Given the description of an element on the screen output the (x, y) to click on. 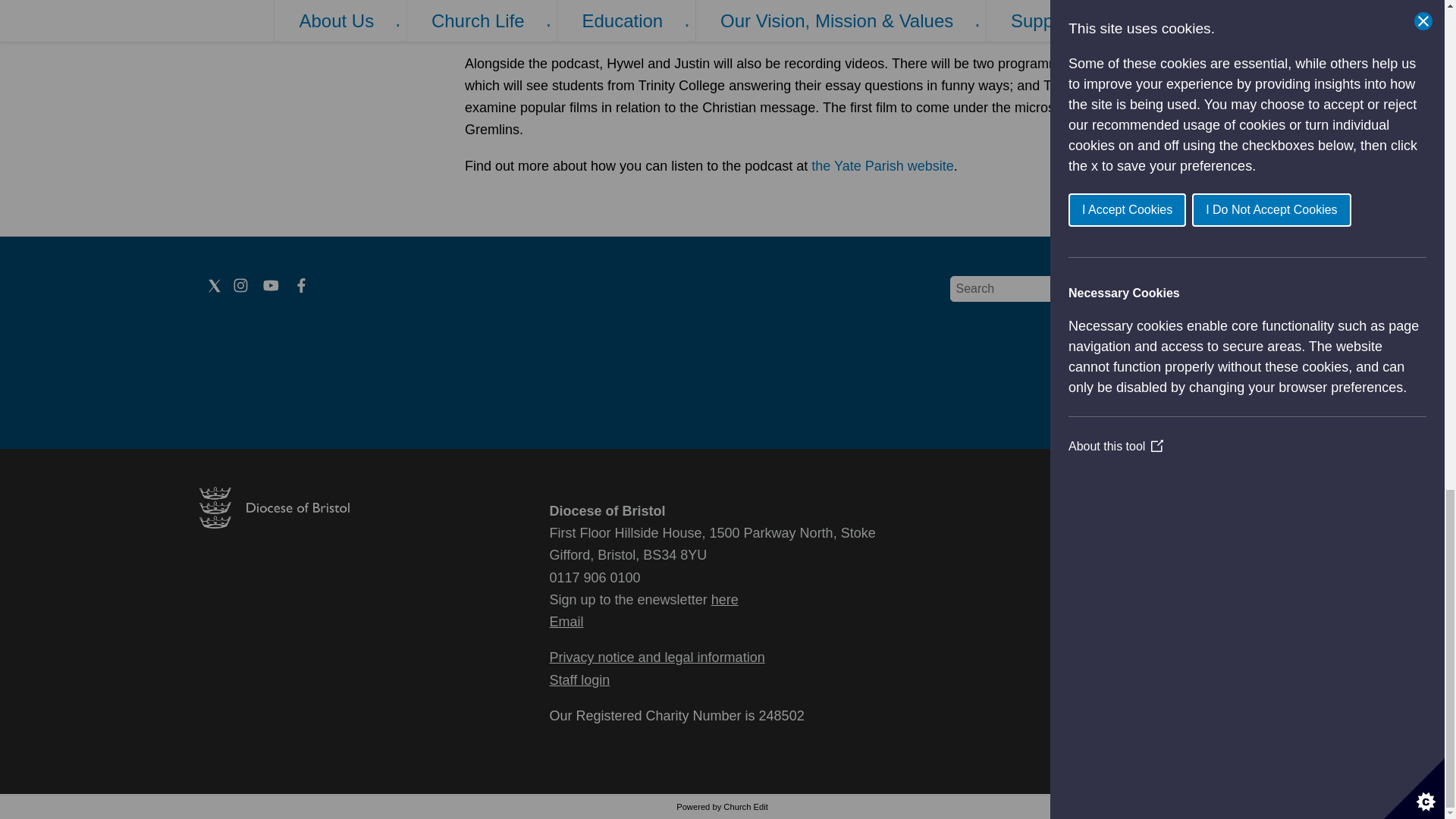
Diocese of Bristol Logo (273, 523)
